Given the description of an element on the screen output the (x, y) to click on. 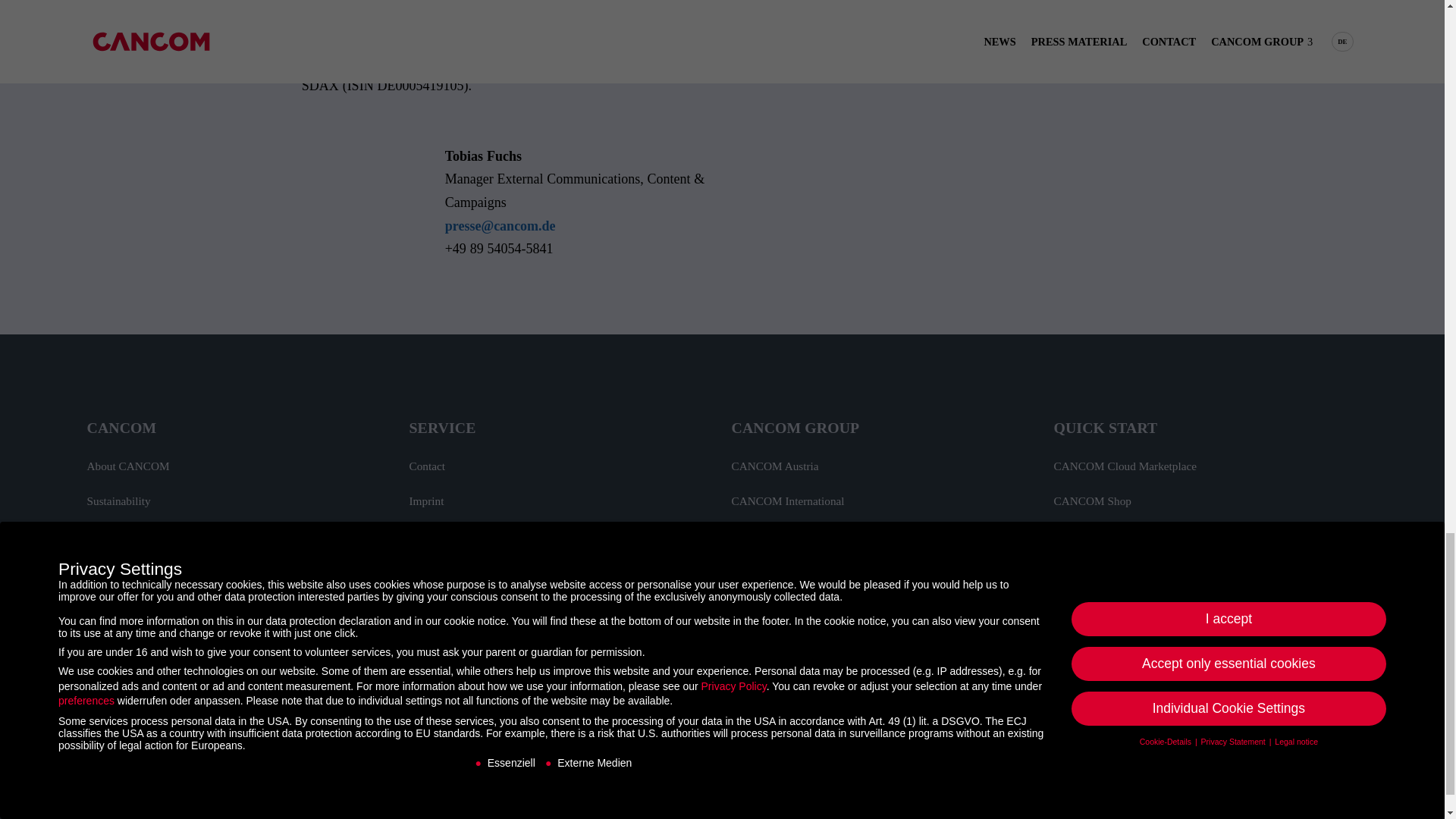
Tobias Fuchs 4 (346, 194)
CANCOM honored with NetApp Partner Award 2022 5 (1127, 755)
CANCOM honored with NetApp Partner Award 2022 6 (1170, 755)
Sustainability (117, 501)
CANCOM honored with NetApp Partner Award 2022 7 (1214, 755)
About CANCOM (126, 465)
Investor Relations (128, 536)
Contact (427, 465)
CANCOM Career (128, 570)
Imprint (426, 501)
Compliance (437, 570)
CANCOM Switzerland (785, 570)
CANCOM International (787, 501)
Newsroom (111, 640)
CANCOM Cloud Marketplace (1125, 465)
